Given the description of an element on the screen output the (x, y) to click on. 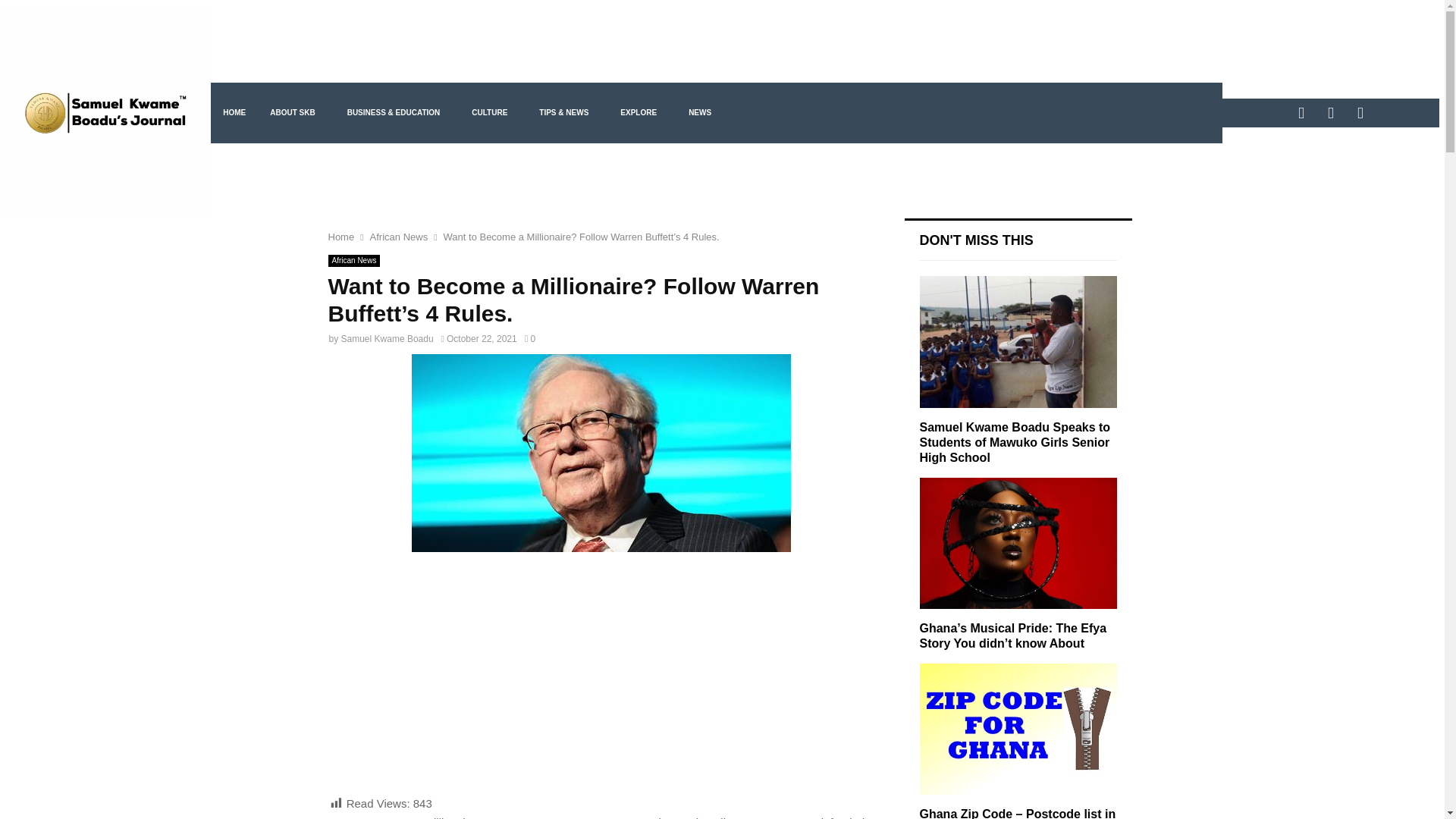
EXPLORE (642, 112)
Advertisement (600, 681)
NEWS (703, 112)
ABOUT SKB (295, 112)
CULTURE (493, 112)
